Given the description of an element on the screen output the (x, y) to click on. 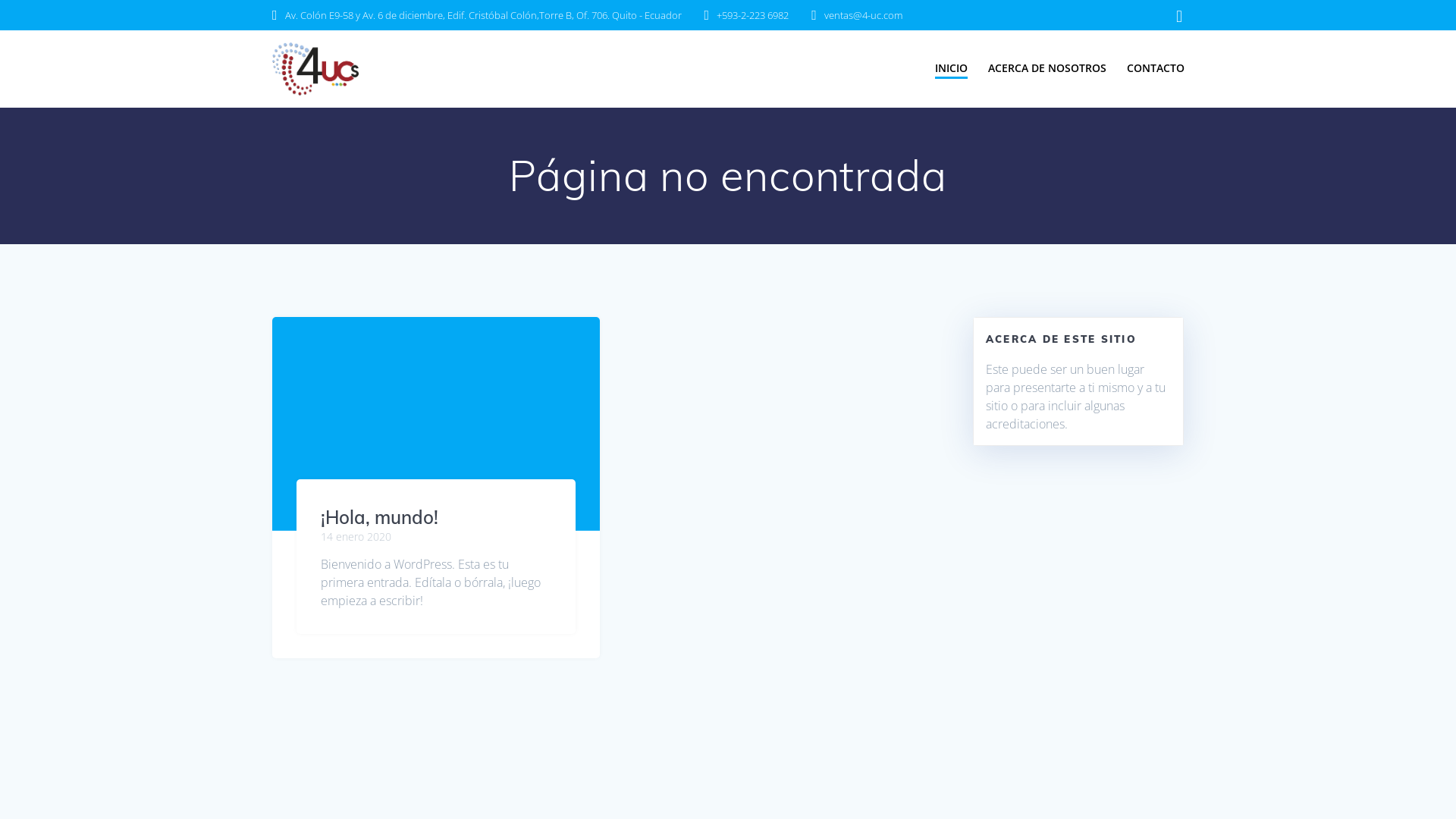
INICIO Element type: text (951, 68)
CONTACTO Element type: text (1155, 67)
Saltar al contenido Element type: text (0, 0)
ACERCA DE NOSOTROS Element type: text (1047, 67)
